Given the description of an element on the screen output the (x, y) to click on. 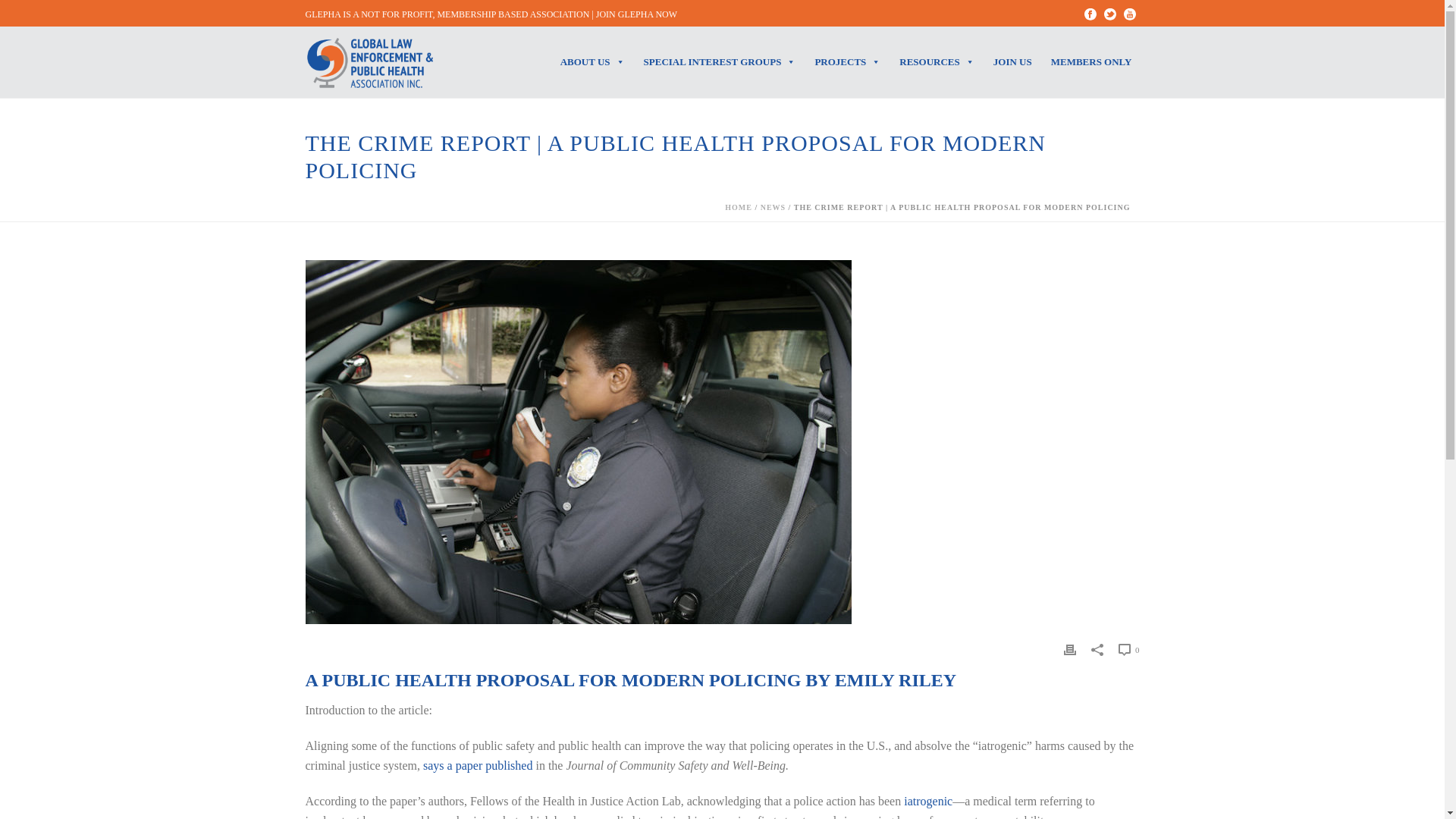
SPECIAL INTEREST GROUPS (721, 61)
RESOURCES (938, 61)
ABOUT US (593, 61)
PROJECTS (849, 61)
